Given the description of an element on the screen output the (x, y) to click on. 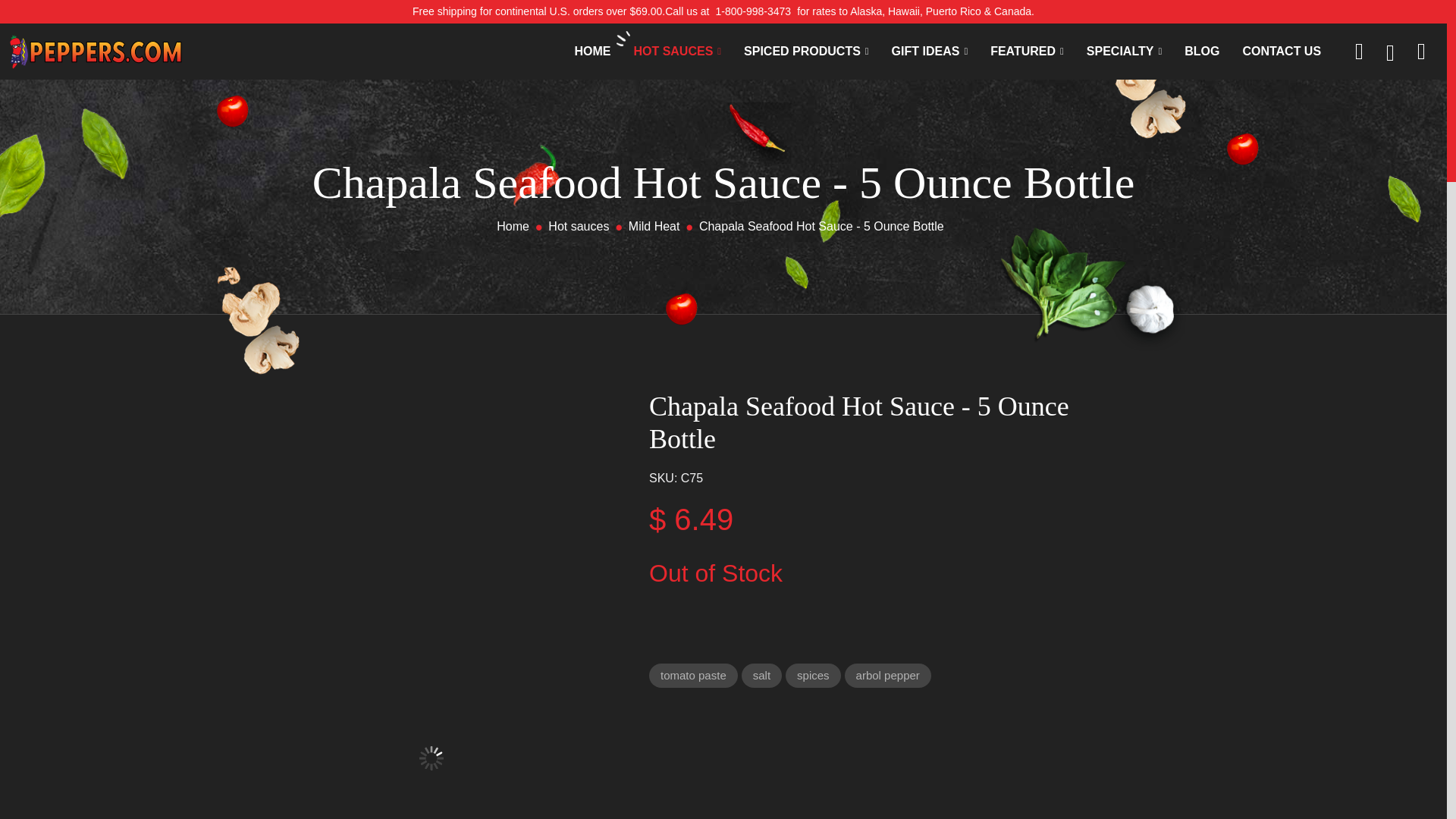
HOME (591, 51)
1-800-998-3473 (752, 10)
HOT SAUCES (676, 51)
SPICED PRODUCTS (806, 51)
